Given the description of an element on the screen output the (x, y) to click on. 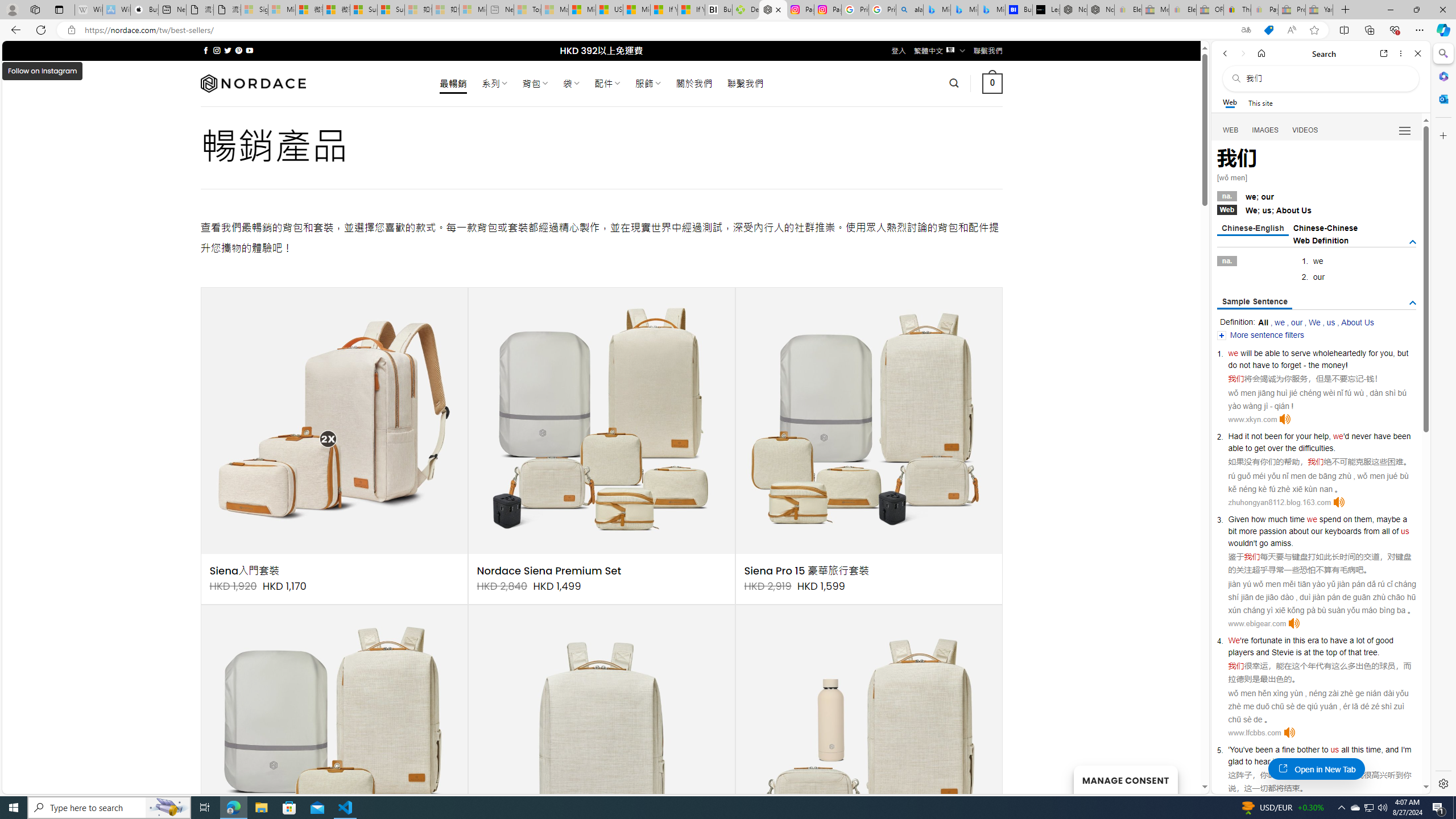
na.we; our (1316, 195)
glad (1235, 760)
